Given the description of an element on the screen output the (x, y) to click on. 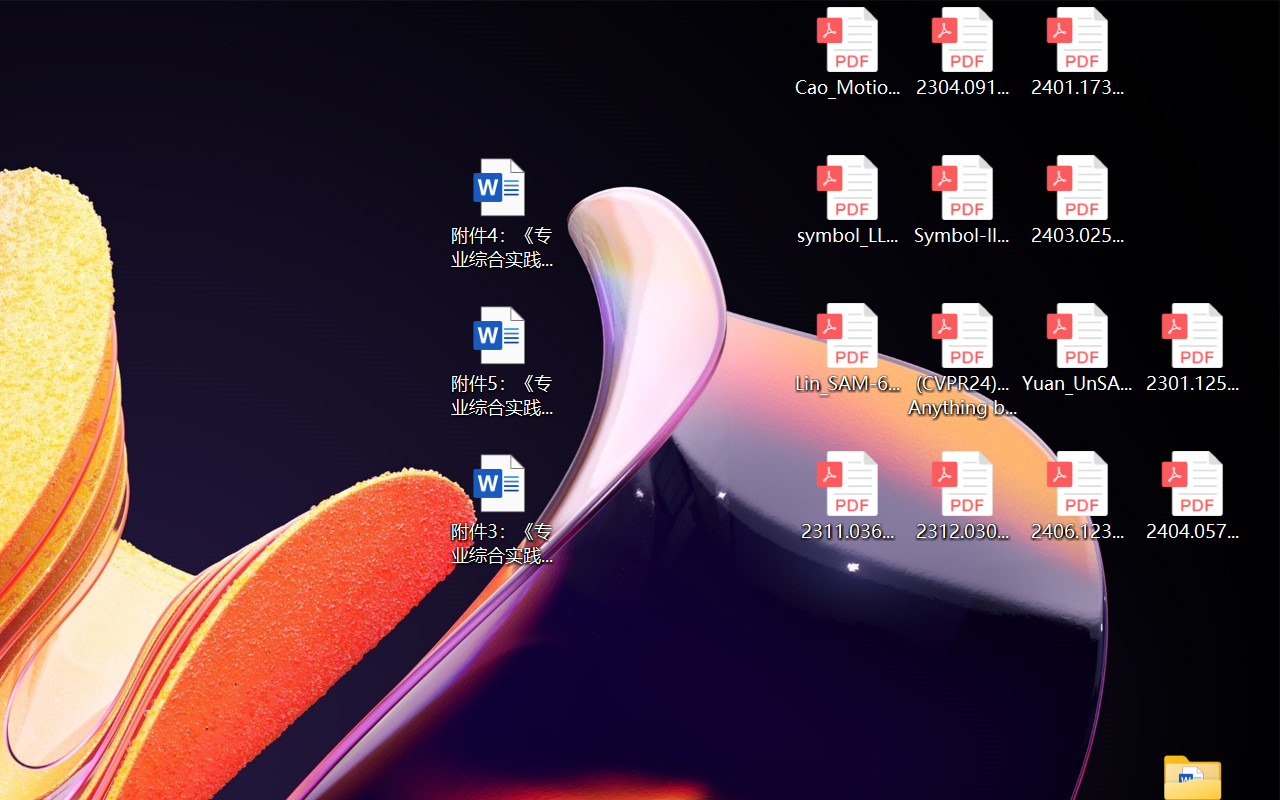
2301.12597v3.pdf (1192, 348)
2406.12373v2.pdf (1077, 496)
Symbol-llm-v2.pdf (962, 200)
2403.02502v1.pdf (1077, 200)
2312.03032v2.pdf (962, 496)
2404.05719v1.pdf (1192, 496)
2304.09121v3.pdf (962, 52)
2311.03658v2.pdf (846, 496)
symbol_LLM.pdf (846, 200)
(CVPR24)Matching Anything by Segmenting Anything.pdf (962, 360)
